Given the description of an element on the screen output the (x, y) to click on. 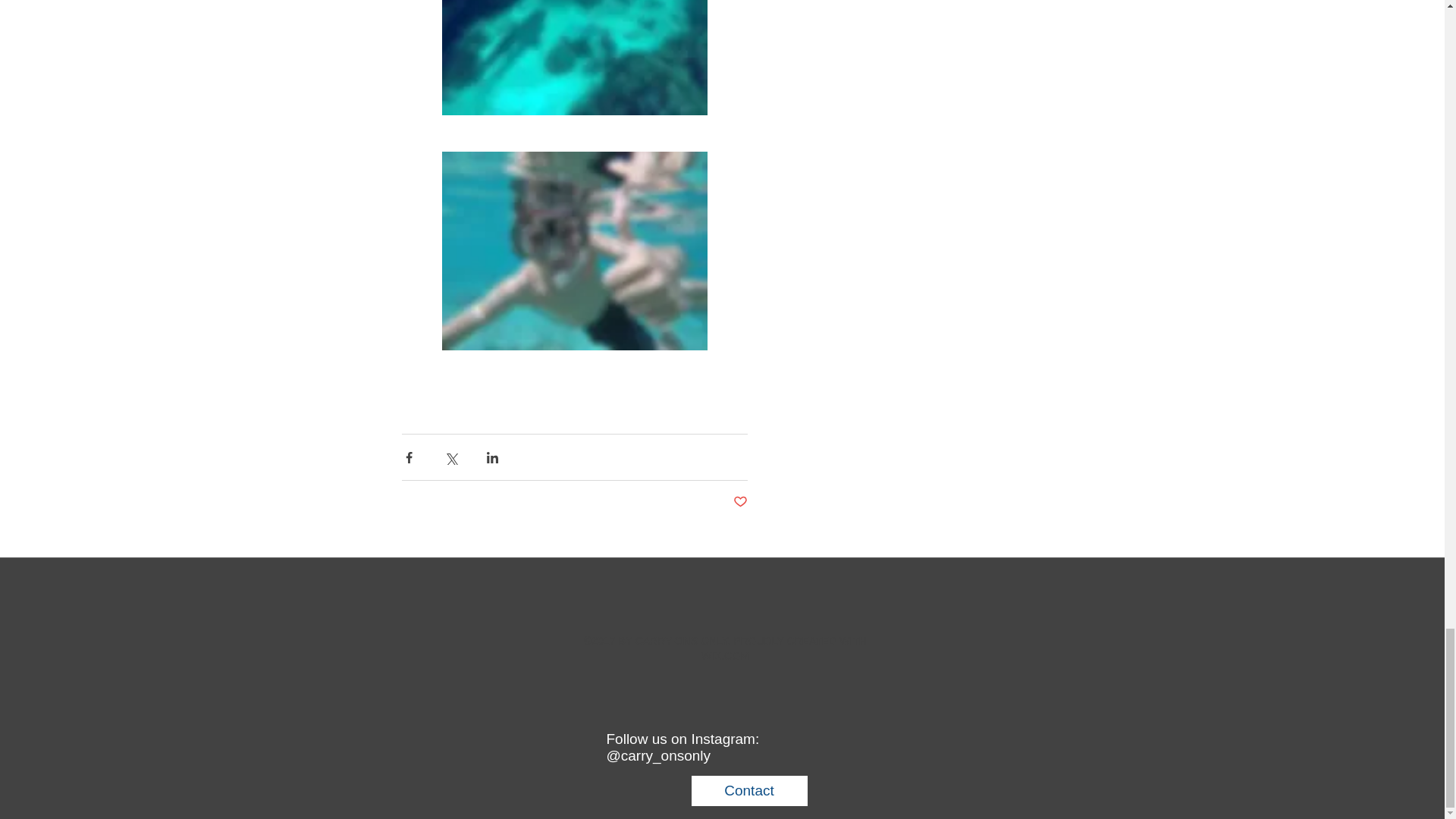
Contact (749, 790)
Post not marked as liked (739, 502)
